Given the description of an element on the screen output the (x, y) to click on. 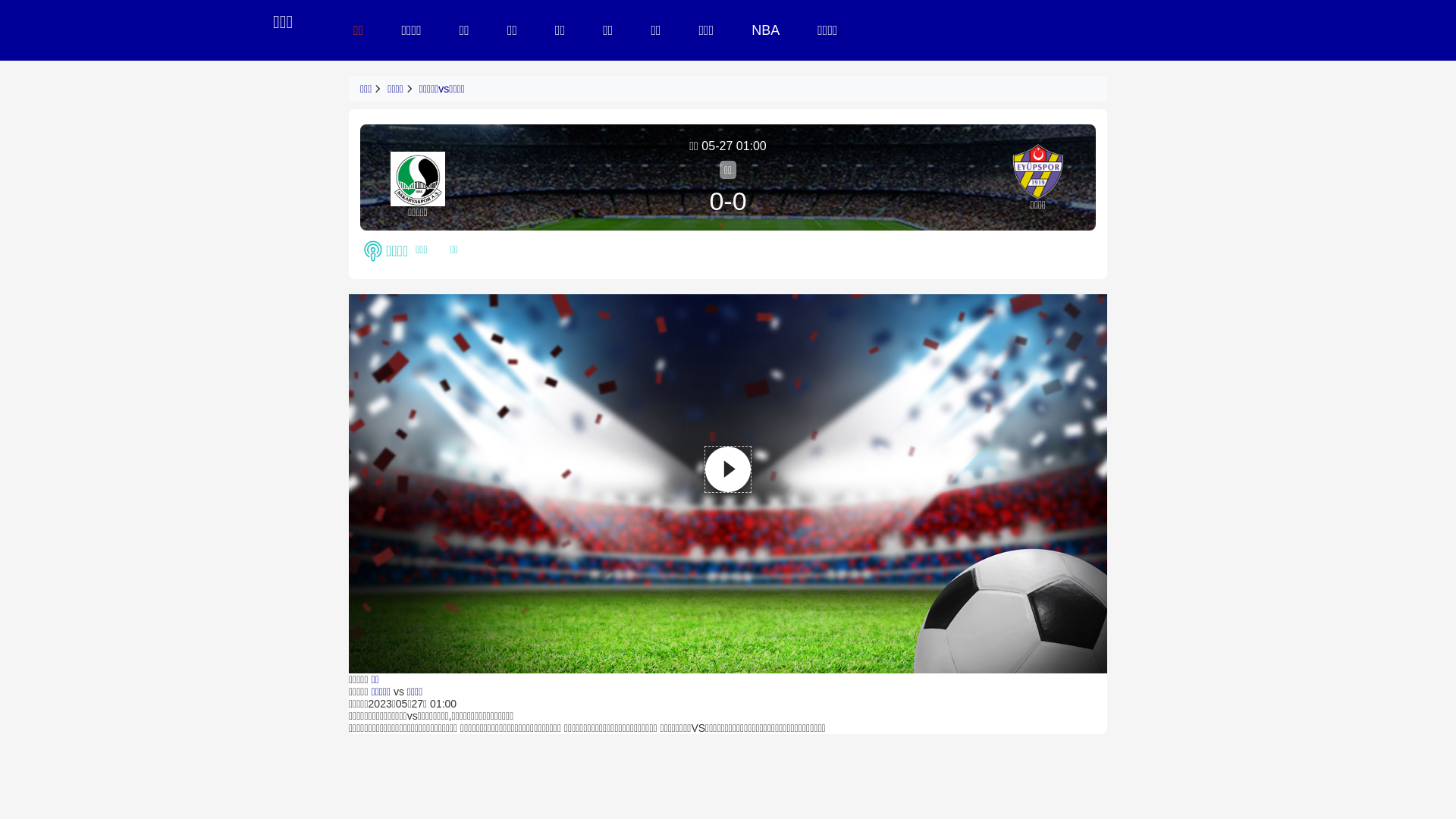
NBA Element type: text (765, 30)
